Given the description of an element on the screen output the (x, y) to click on. 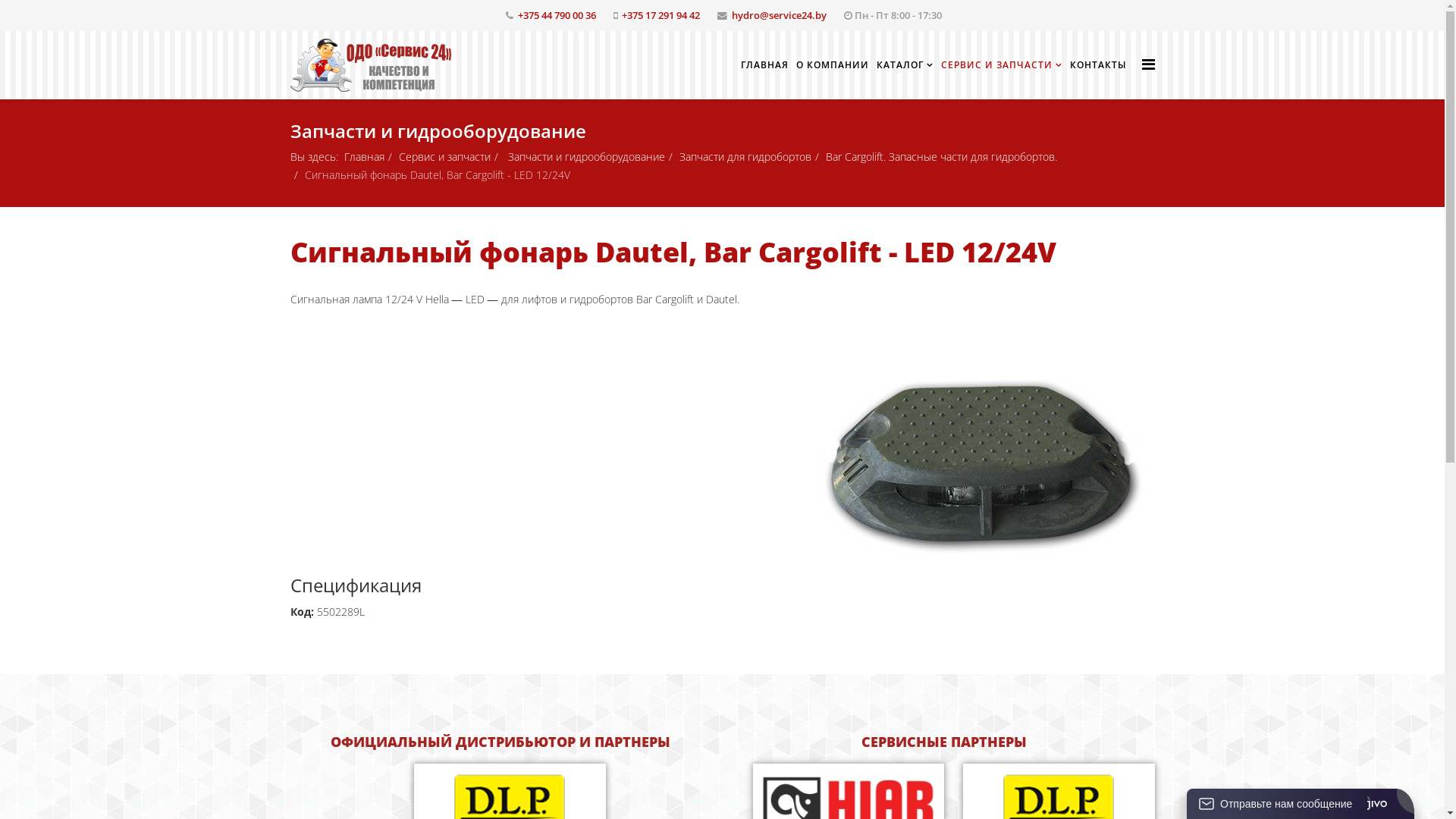
+375 44 790 00 36 Element type: text (556, 15)
Helix Megamenu Options Element type: hover (1148, 64)
hydro@service24.by Element type: text (778, 15)
+375 17 291 94 42 Element type: text (660, 15)
